Given the description of an element on the screen output the (x, y) to click on. 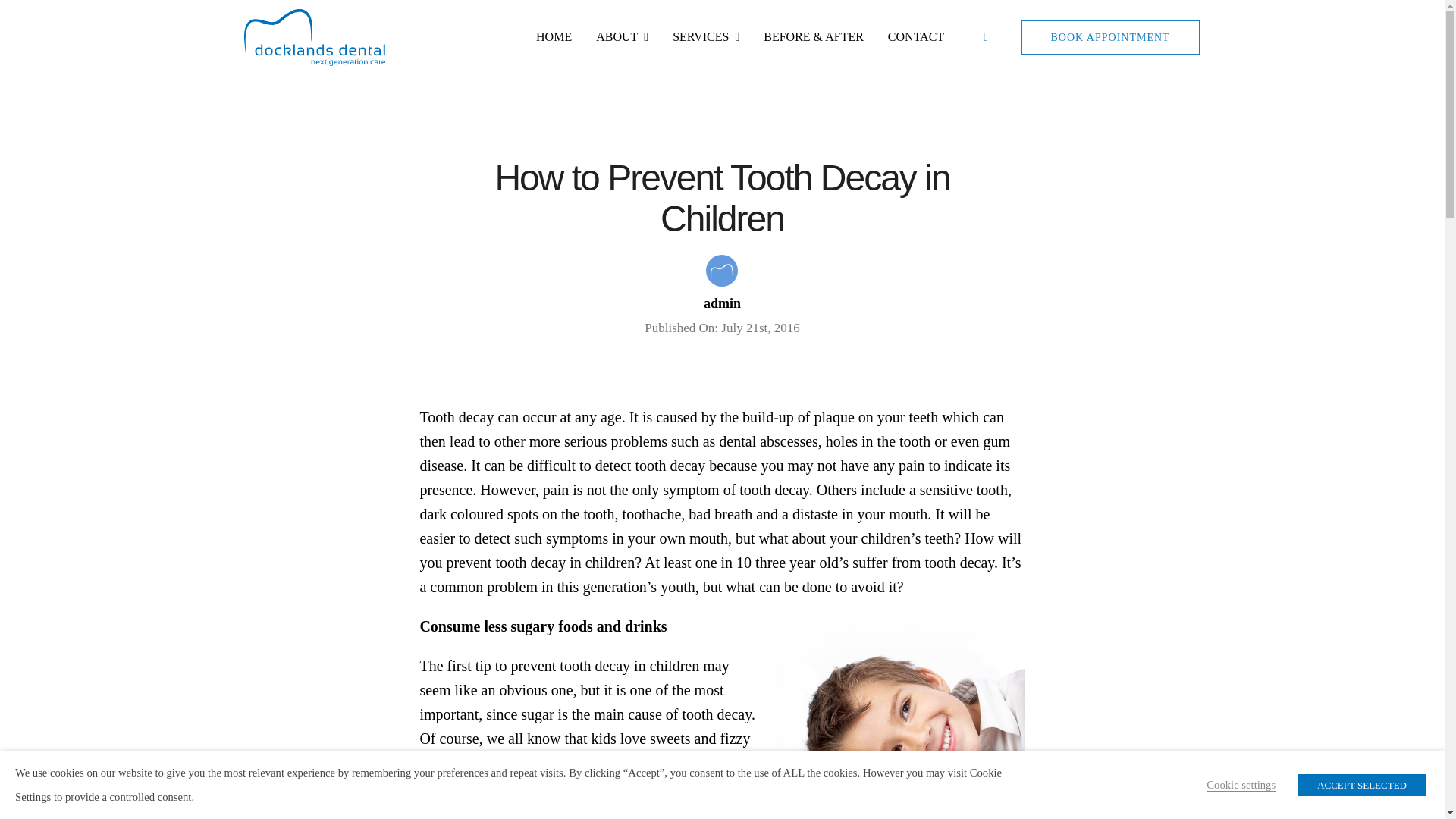
HOME (553, 37)
ABOUT (621, 37)
SERVICES (705, 37)
BOOK APPOINTMENT (1109, 37)
CONTACT (915, 37)
